Given the description of an element on the screen output the (x, y) to click on. 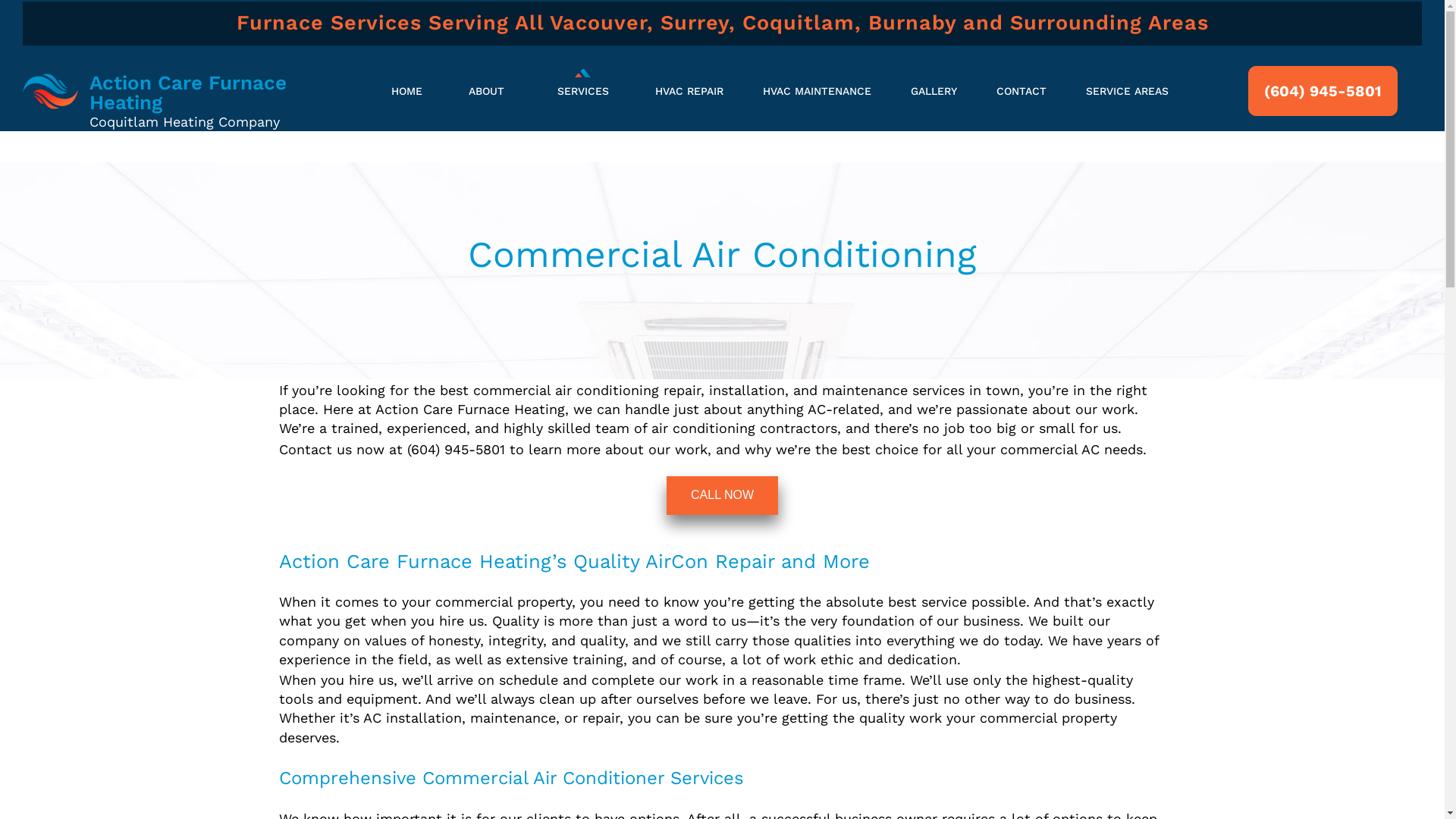
DRYER VENT CLEANING Element type: text (597, 538)
RESIDENTIAL FURNACE SERVICES Element type: text (597, 326)
WATER HEATER INSTALLATION Element type: text (597, 368)
CALL NOW Element type: text (722, 495)
CONTACT Element type: text (1021, 91)
HOME Element type: text (406, 91)
RESIDENTIAL AIR CONDITIONING SERVICES Element type: text (597, 283)
HVAC MAINTENANCE Element type: text (816, 91)
GALLERY Element type: text (933, 91)
HVAC REPAIR Element type: text (689, 91)
AIR CONDITIONING SERVICES Element type: text (597, 156)
COMMERCIAL AIR CONDITIONING Element type: text (597, 199)
ABOUT Element type: text (486, 91)
WATER HEATER REPAIR Element type: text (597, 411)
HEAT PUMP INSTALLATIONS Element type: text (597, 623)
SERVICES Element type: text (582, 91)
BOILER REPAIR, CLEANING, INSTALLATION Element type: text (597, 453)
(604) 945-5801 Element type: text (1322, 90)
HVAC CONTRACTOR Element type: text (597, 666)
FAQ Element type: text (501, 151)
FURNACE REPAIR, CLEANING, INSTALLATION Element type: text (597, 581)
FURNACE SERVICES Element type: text (597, 241)
SERVICE AREAS Element type: text (1127, 91)
Action Care Furnace Heating Element type: text (187, 92)
HOT WATER TANK REPAIR, CLEANING, INSTALLATION Element type: text (597, 496)
AIR DUCT CLEANING Element type: text (597, 708)
